Given the description of an element on the screen output the (x, y) to click on. 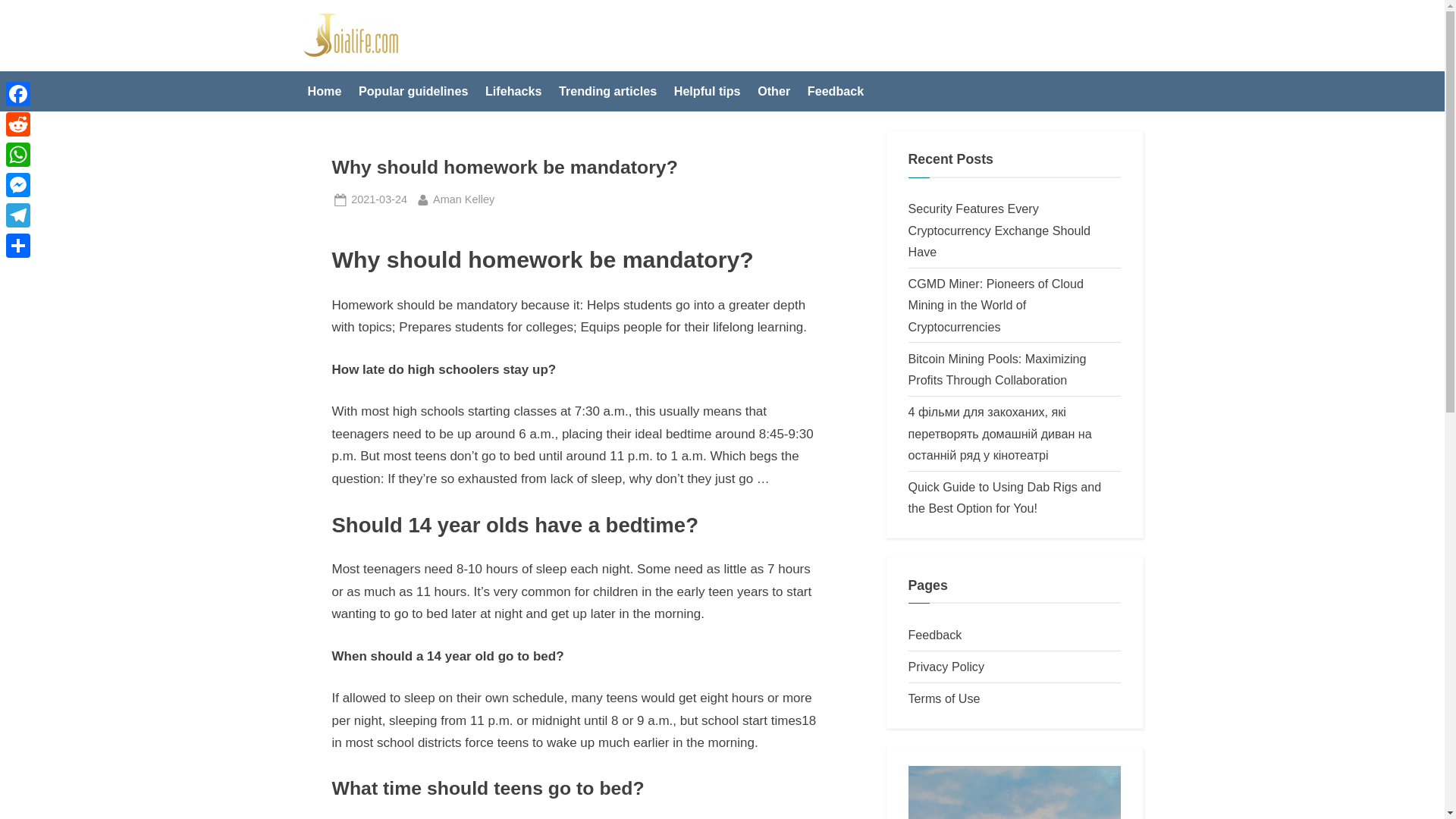
Reddit (17, 123)
Privacy Policy (946, 666)
Facebook (17, 93)
Facebook (17, 93)
Other (773, 91)
Lifehacks (513, 91)
Home (463, 199)
Helpful tips (324, 91)
Quick Guide to Using Dab Rigs and the Best Option for You! (707, 91)
Security Features Every Cryptocurrency Exchange Should Have (1005, 497)
Reddit (999, 229)
WhatsApp (17, 123)
Telegram (17, 154)
